Given the description of an element on the screen output the (x, y) to click on. 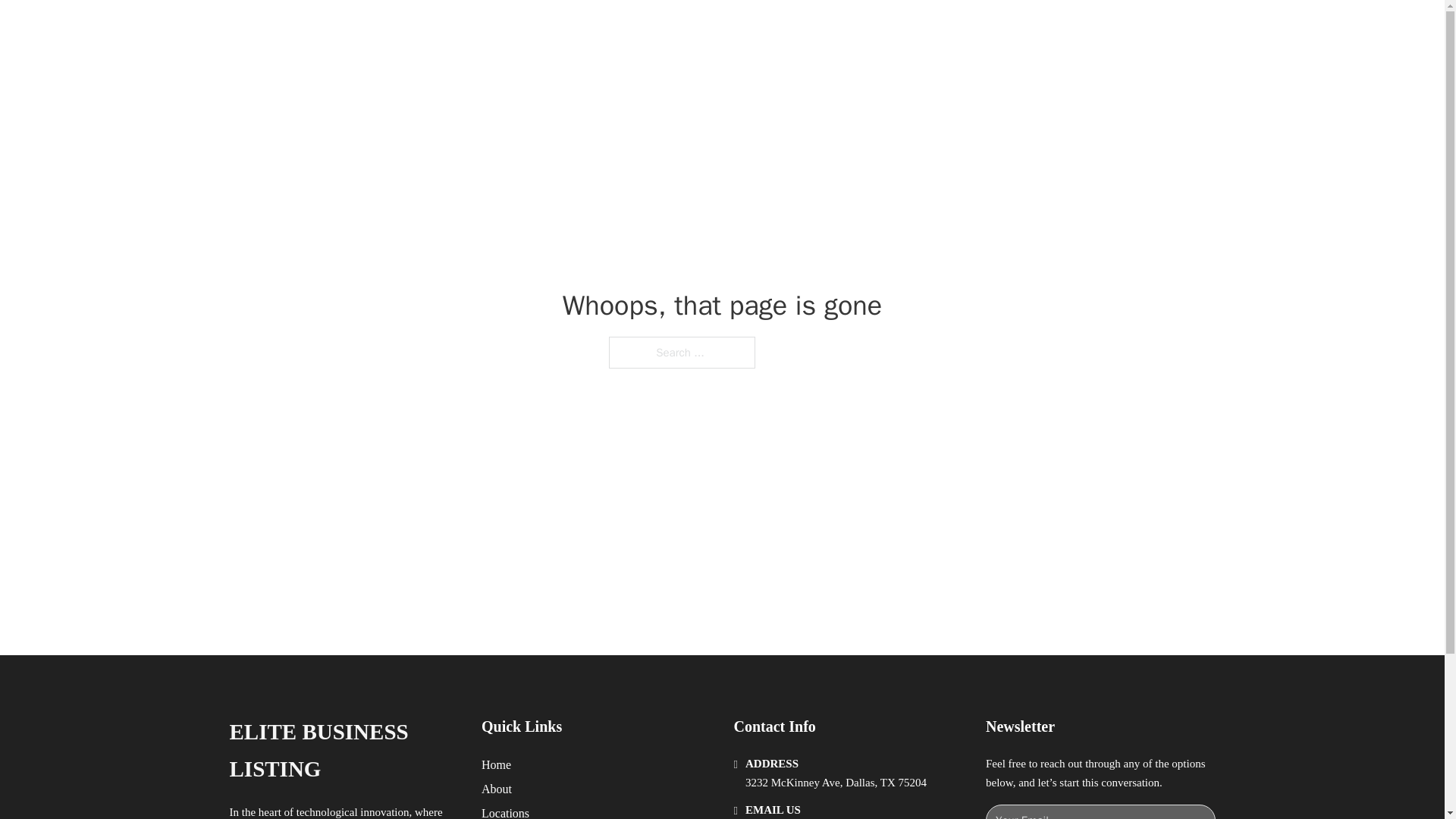
ELITE BUSINESS LISTING (343, 750)
About (496, 788)
Locations (505, 811)
Elite Business Listing (416, 28)
Home (496, 764)
